Given the description of an element on the screen output the (x, y) to click on. 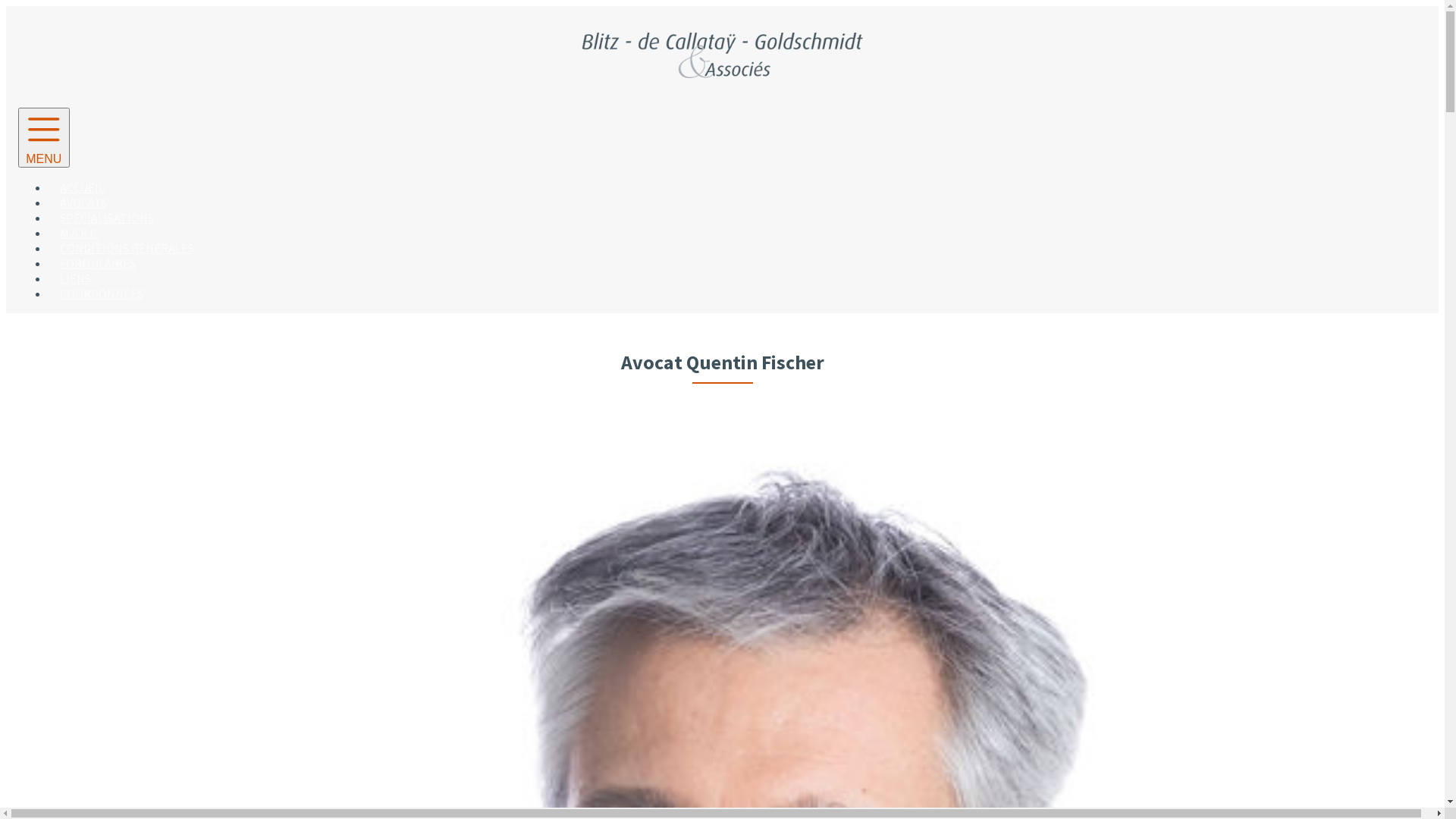
AVOCATS Element type: text (83, 202)
MENU Element type: text (43, 137)
ACCUEIL Element type: text (82, 187)
M.A.R.C. Element type: text (79, 232)
FORMULAIRES Element type: text (97, 263)
LIENS Element type: text (75, 278)
